Given the description of an element on the screen output the (x, y) to click on. 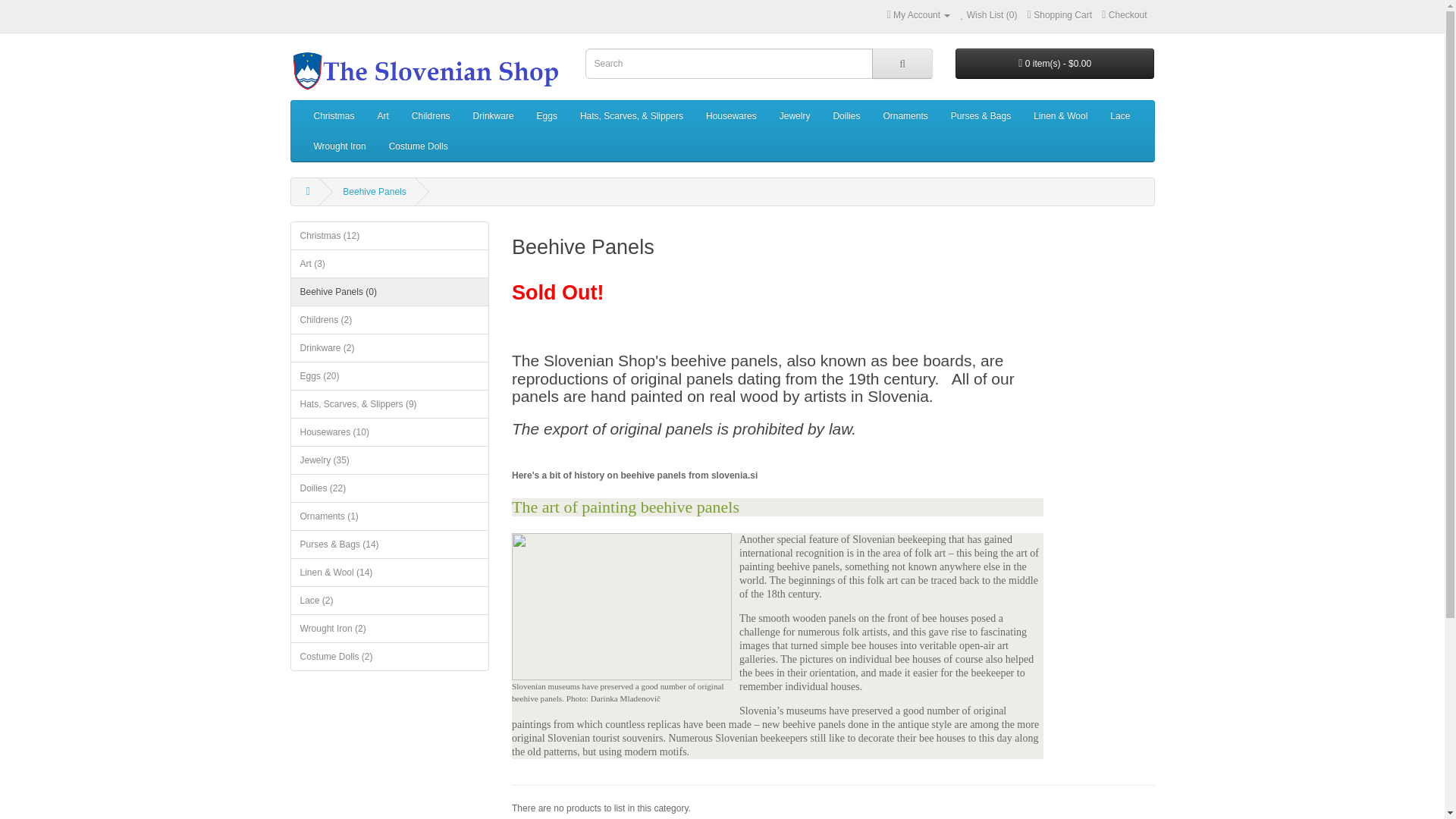
Shopping Cart (1059, 14)
Beehive Panels (374, 191)
Christmas (333, 115)
Lace (1120, 115)
Shopping Cart (1059, 14)
Wrought Iron (339, 146)
Housewares (731, 115)
Checkout (1124, 14)
Ornaments (904, 115)
Art (383, 115)
Checkout (1124, 14)
The Slovenian Shop (425, 70)
Jewelry (795, 115)
Childrens (430, 115)
My Account (918, 14)
